Given the description of an element on the screen output the (x, y) to click on. 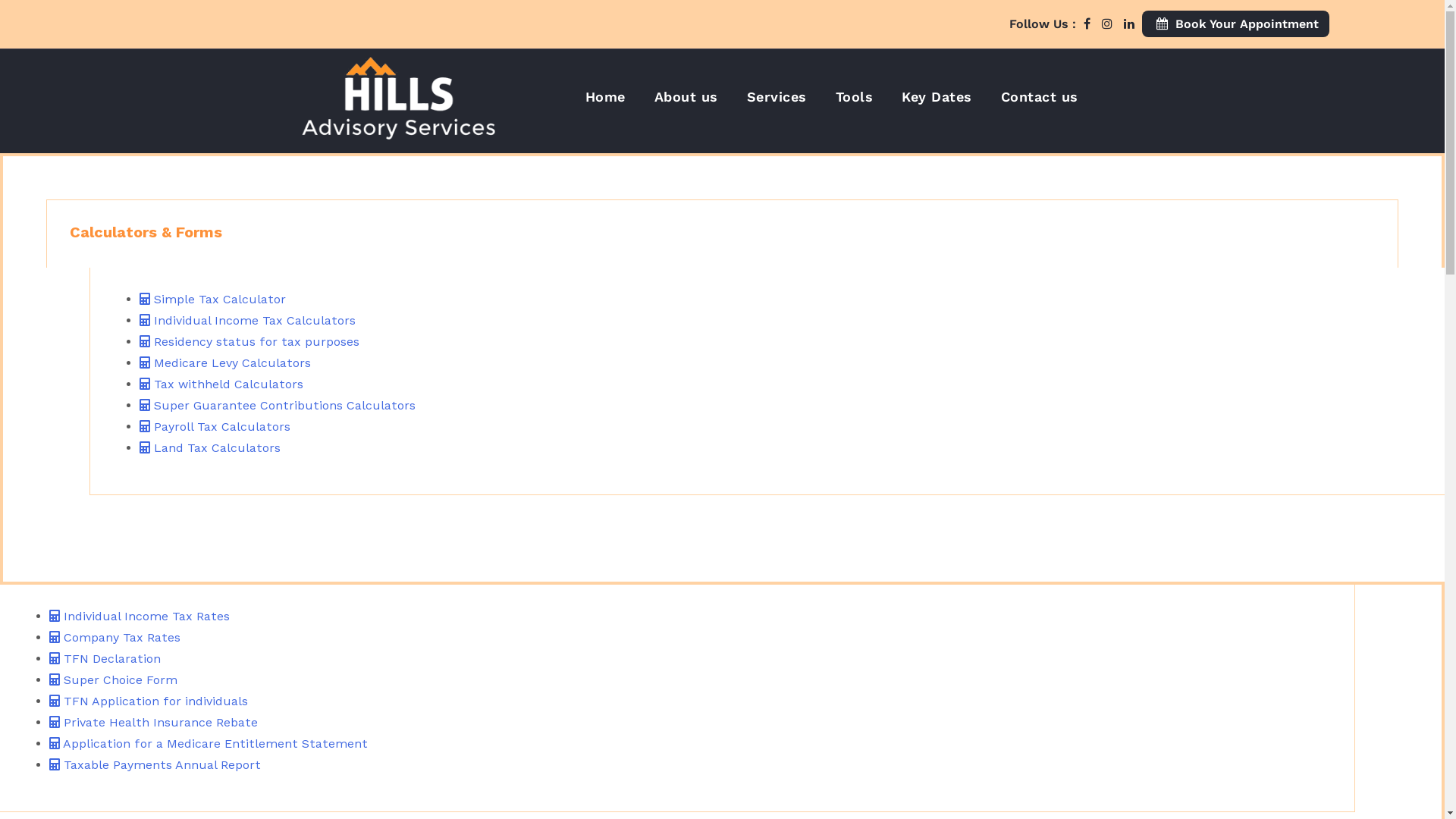
Land Tax Calculators Element type: text (209, 447)
Payroll Tax Calculators Element type: text (214, 426)
Tax withheld Calculators Element type: text (221, 383)
Contact us Element type: text (1039, 97)
Home Element type: text (605, 97)
Individual Income Tax Rates Element type: text (139, 615)
Medicare Levy Calculators Element type: text (224, 362)
TFN Declaration Element type: text (104, 658)
Key Dates Element type: text (936, 97)
Facebook Element type: hover (1086, 23)
Private Health Insurance Rebate Element type: text (153, 722)
Simple Tax Calculator Element type: text (212, 298)
About us Element type: text (685, 97)
Taxable Payments Annual Report Element type: text (154, 764)
Company Tax Rates Element type: text (114, 637)
Book Your Appointment Element type: text (1235, 23)
Super Guarantee Contributions Calculators Element type: text (277, 405)
Application for a Medicare Entitlement Statement Element type: text (208, 743)
Instagram Element type: hover (1107, 23)
Tools Element type: text (854, 97)
Services Element type: text (776, 97)
Individual Income Tax Calculators Element type: text (247, 320)
TFN Application for individuals Element type: text (148, 700)
Super Choice Form Element type: text (113, 679)
Residency status for tax purposes Element type: text (249, 341)
LinkeDin Element type: hover (1129, 23)
